Given the description of an element on the screen output the (x, y) to click on. 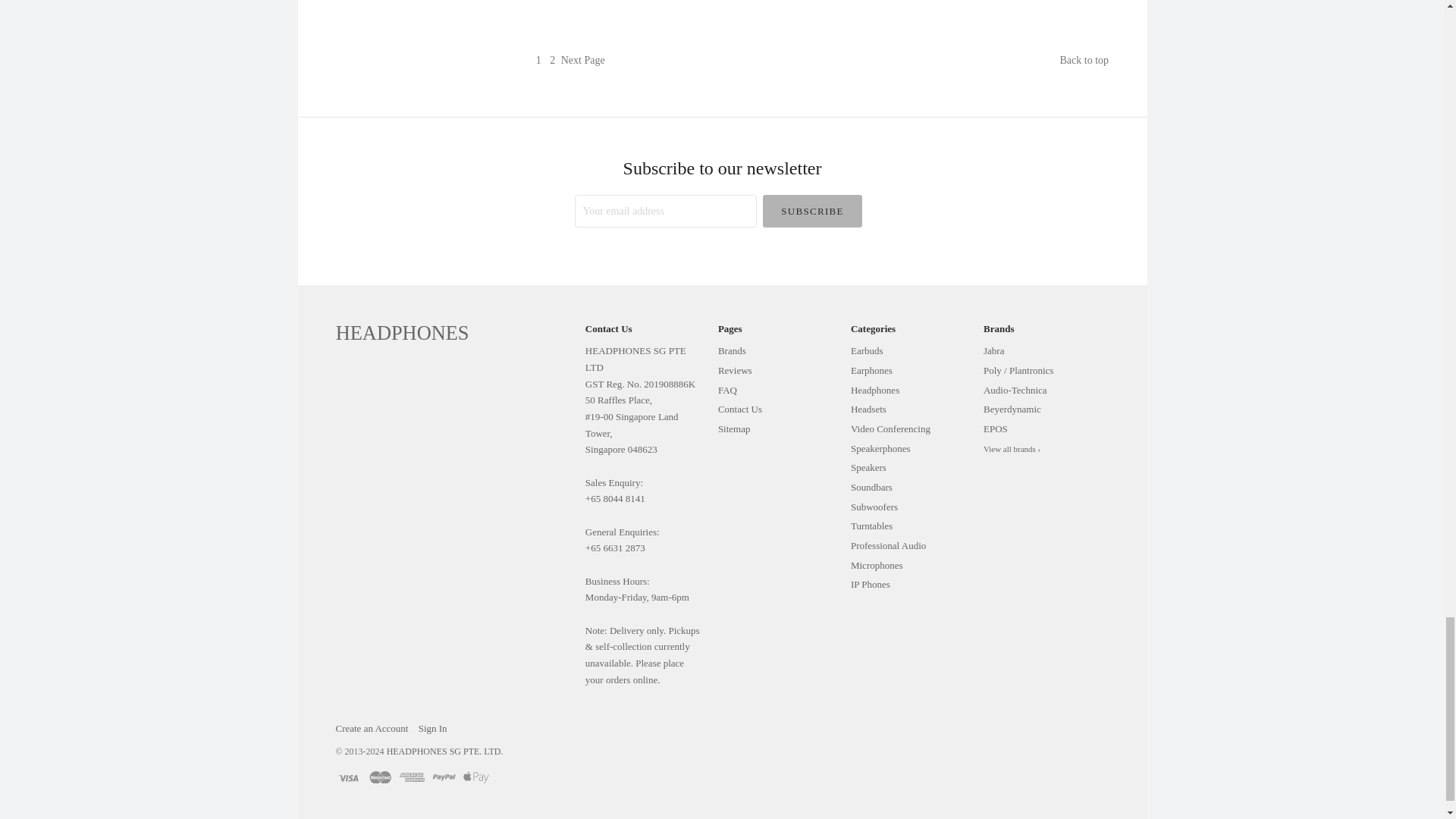
Mastercard (380, 777)
American Express (411, 777)
Subscribe (812, 210)
Apple Pay (476, 777)
Visa (347, 777)
Paypal (443, 777)
